Given the description of an element on the screen output the (x, y) to click on. 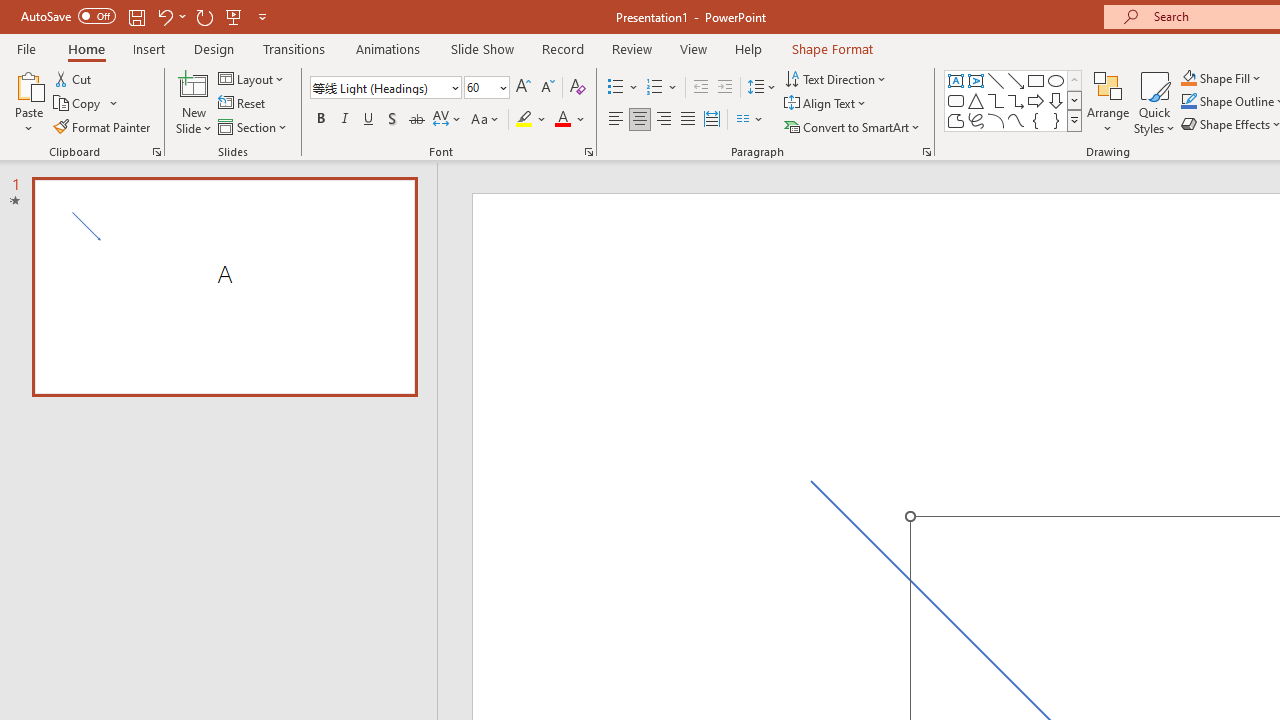
Shape Fill Orange, Accent 2 (1188, 78)
